Given the description of an element on the screen output the (x, y) to click on. 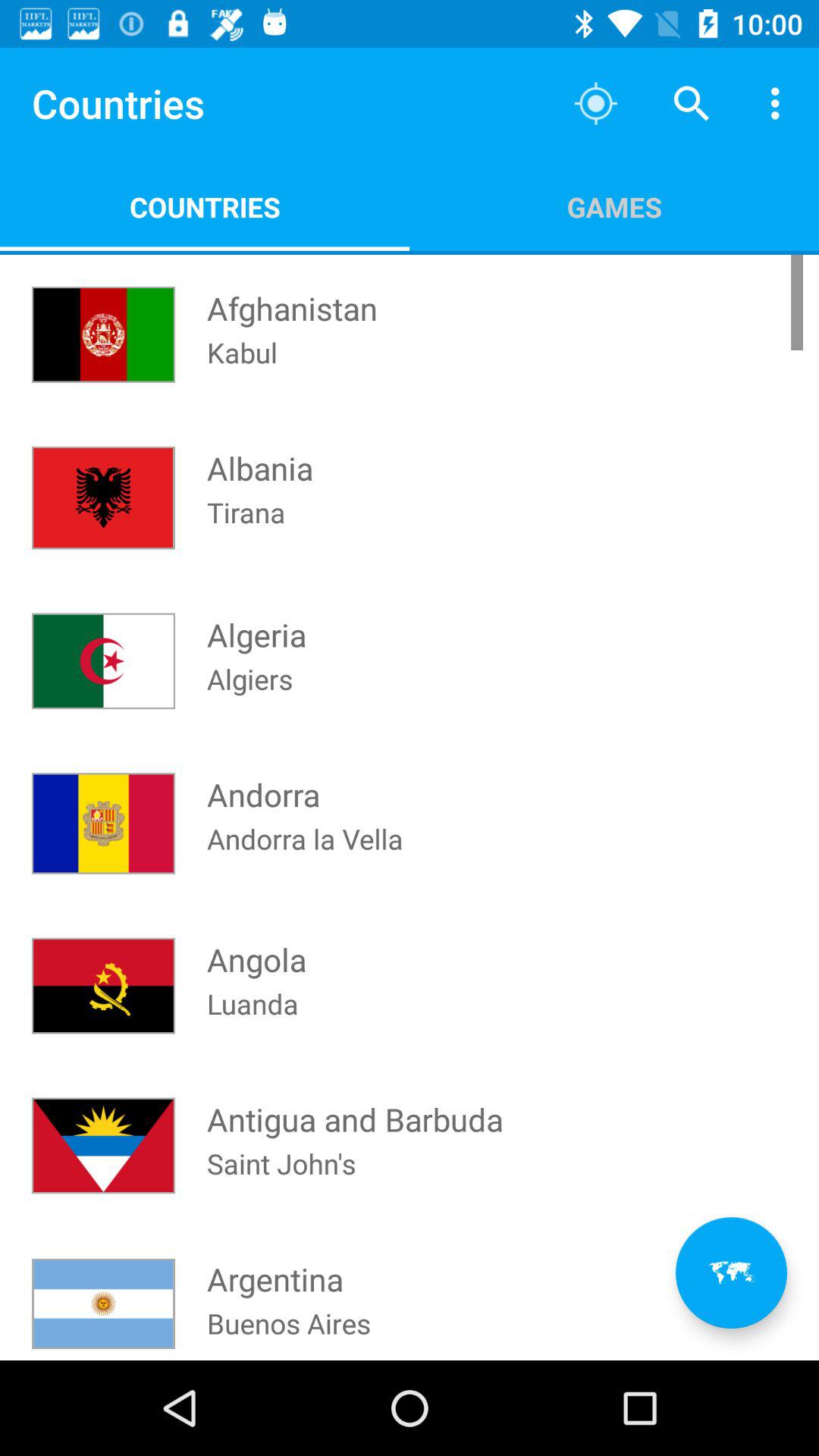
flip to buenos aires icon (288, 1332)
